Given the description of an element on the screen output the (x, y) to click on. 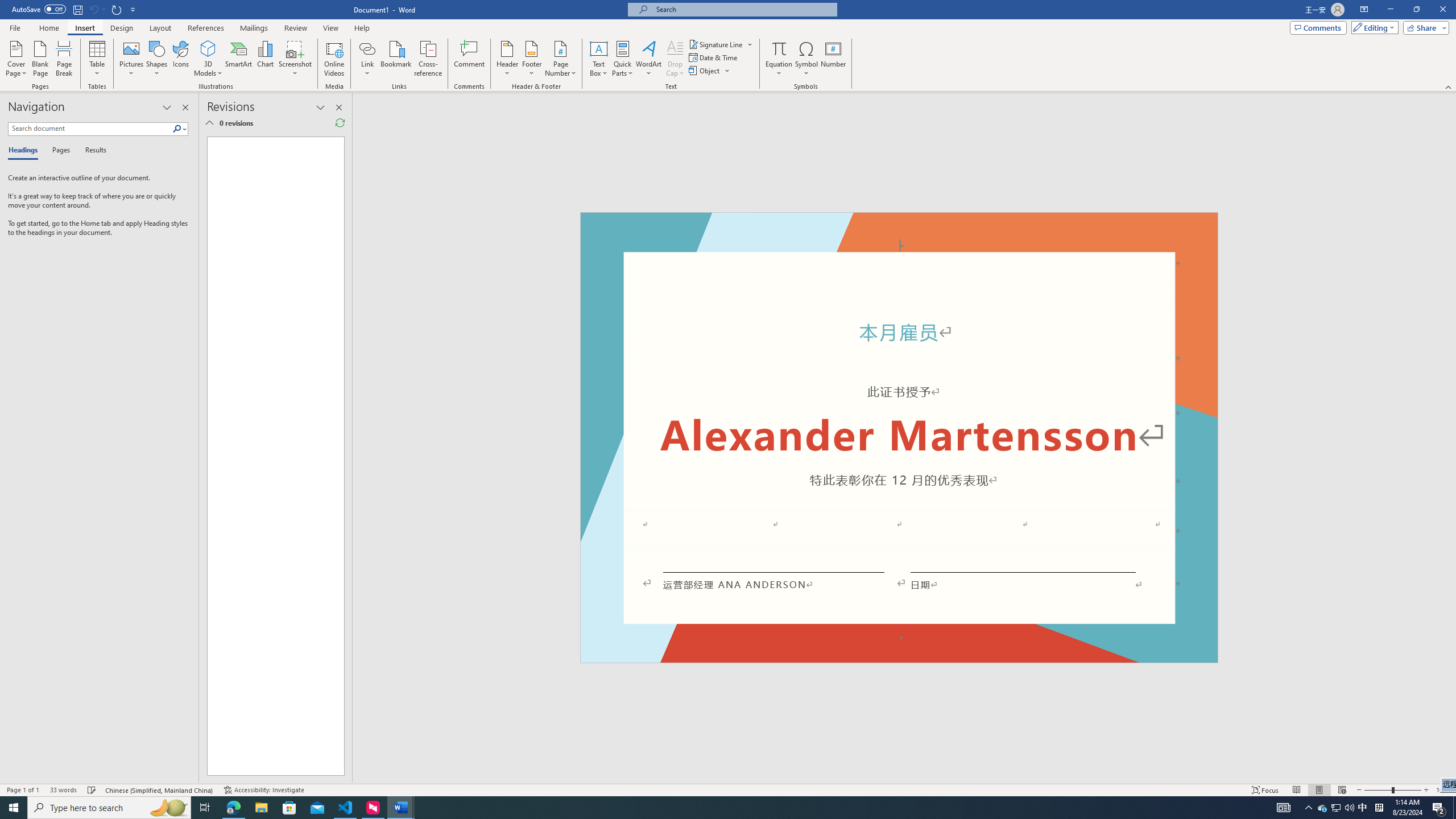
Cover Page (16, 58)
Page Break (63, 58)
Zoom 100% (1443, 790)
Header -Section 1- (898, 225)
Task Pane Options (167, 107)
Text Box (598, 58)
Refresh Reviewing Pane (339, 122)
Link (367, 58)
Equation (778, 58)
